Given the description of an element on the screen output the (x, y) to click on. 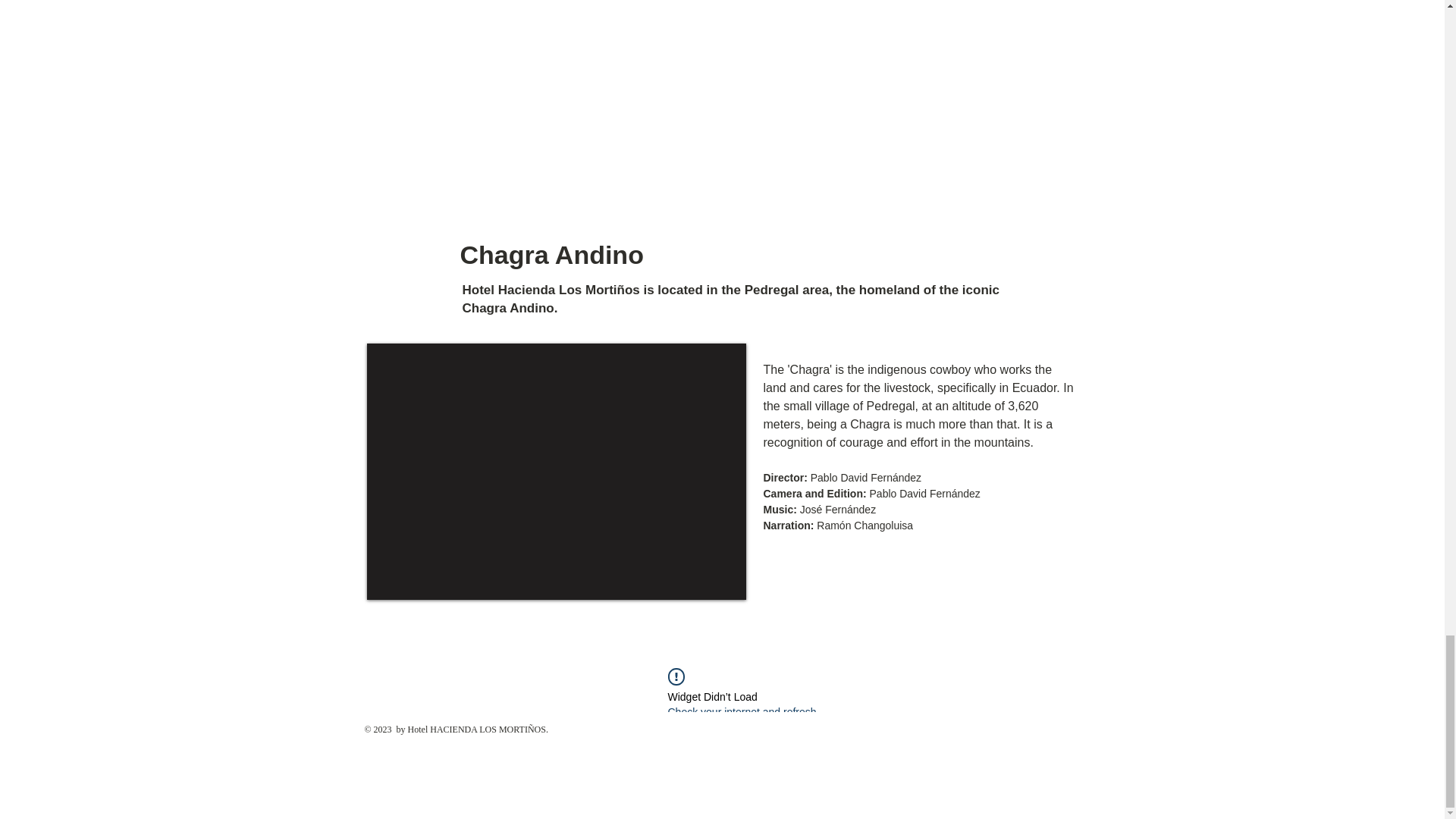
External YouTube (555, 471)
